Given the description of an element on the screen output the (x, y) to click on. 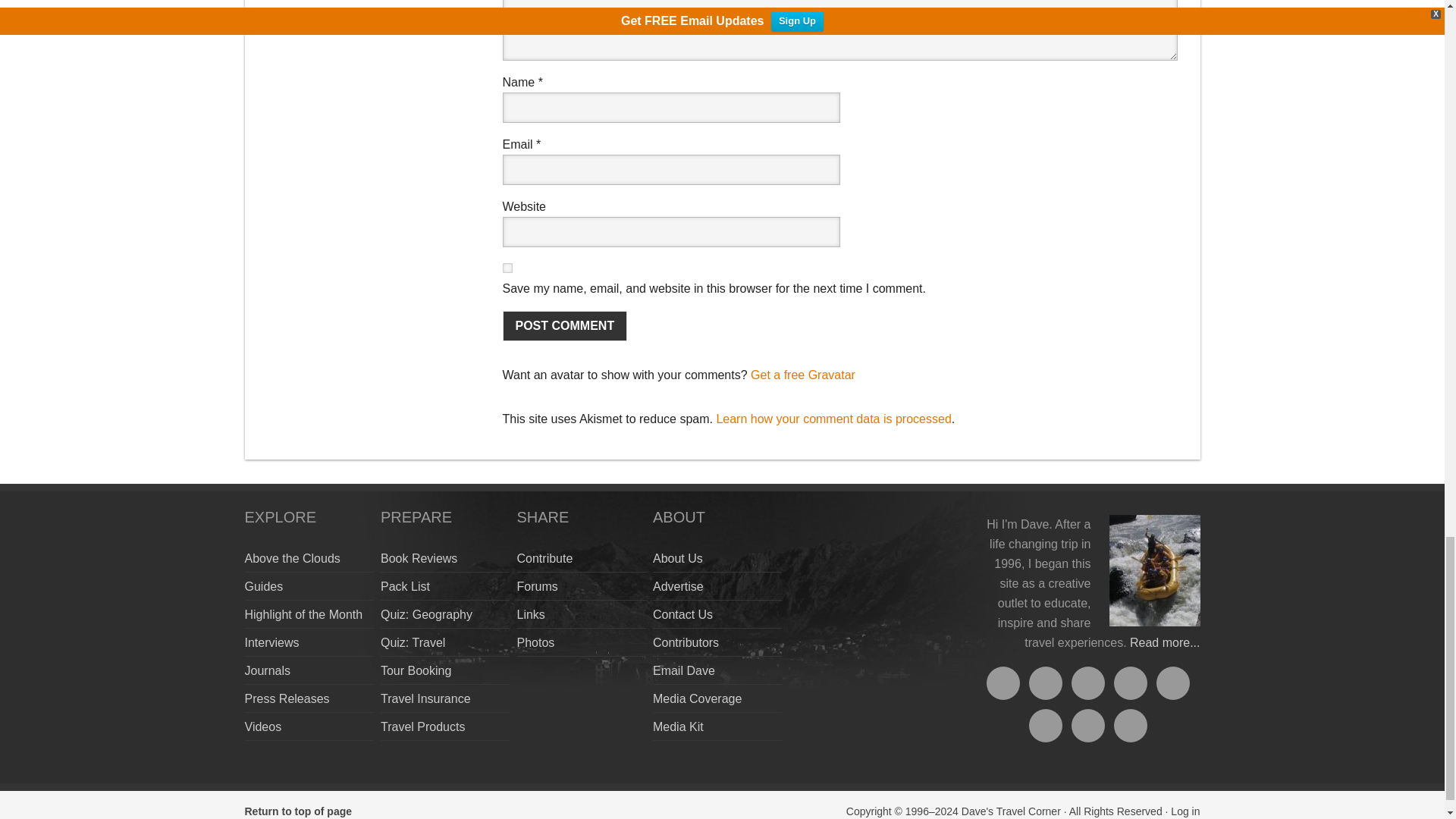
yes (507, 267)
Post Comment (564, 326)
Post Comment (564, 326)
Get a free Gravatar (803, 374)
